Given the description of an element on the screen output the (x, y) to click on. 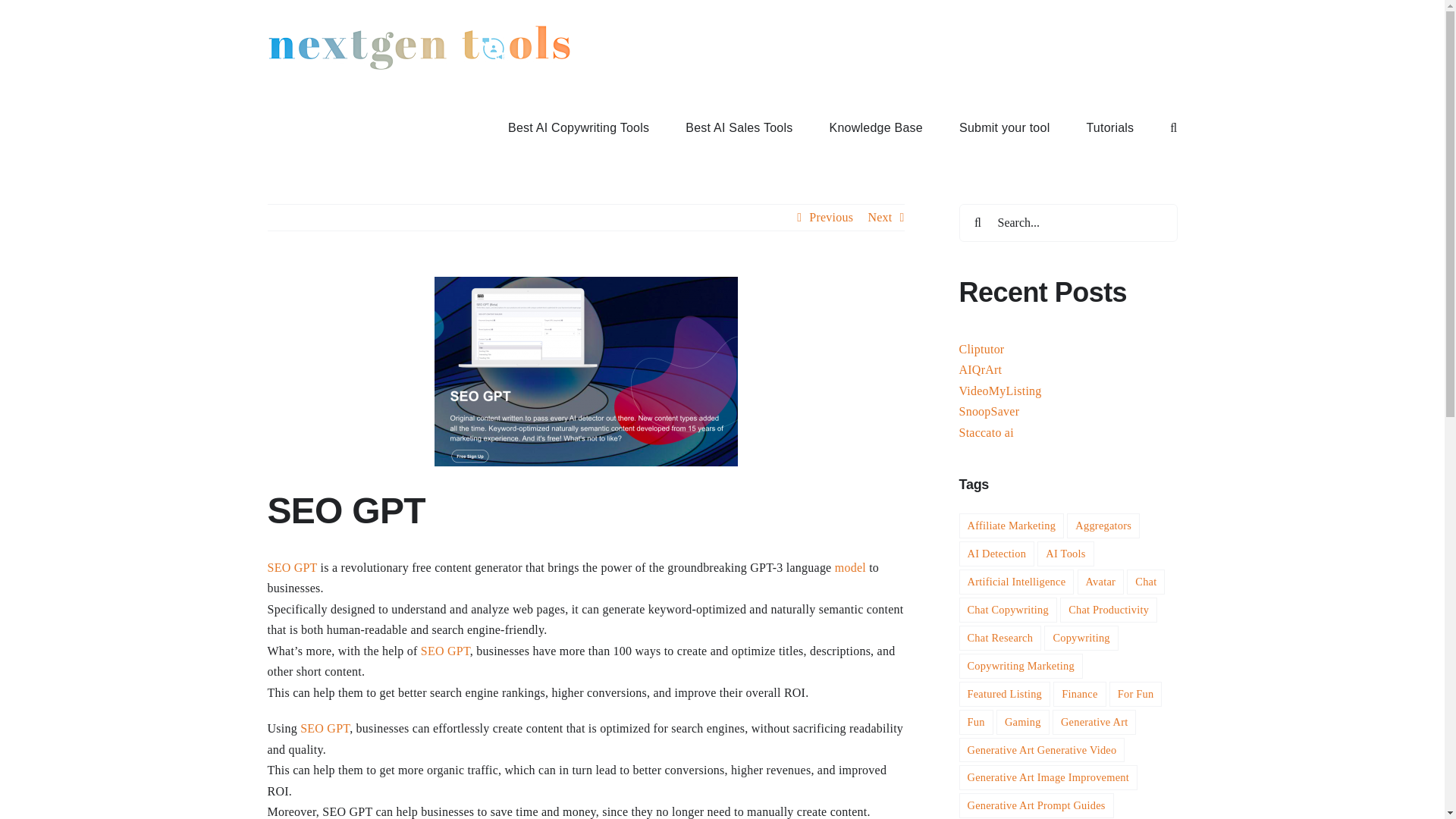
SEO GPT (324, 727)
SEO GPT (291, 567)
Best AI Sales Tools (738, 126)
SEO GPT (585, 371)
Best AI Copywriting Tools (578, 126)
Model (850, 567)
Submit your tool (1004, 126)
Knowledge Base (876, 126)
SEO GPT (445, 650)
